Given the description of an element on the screen output the (x, y) to click on. 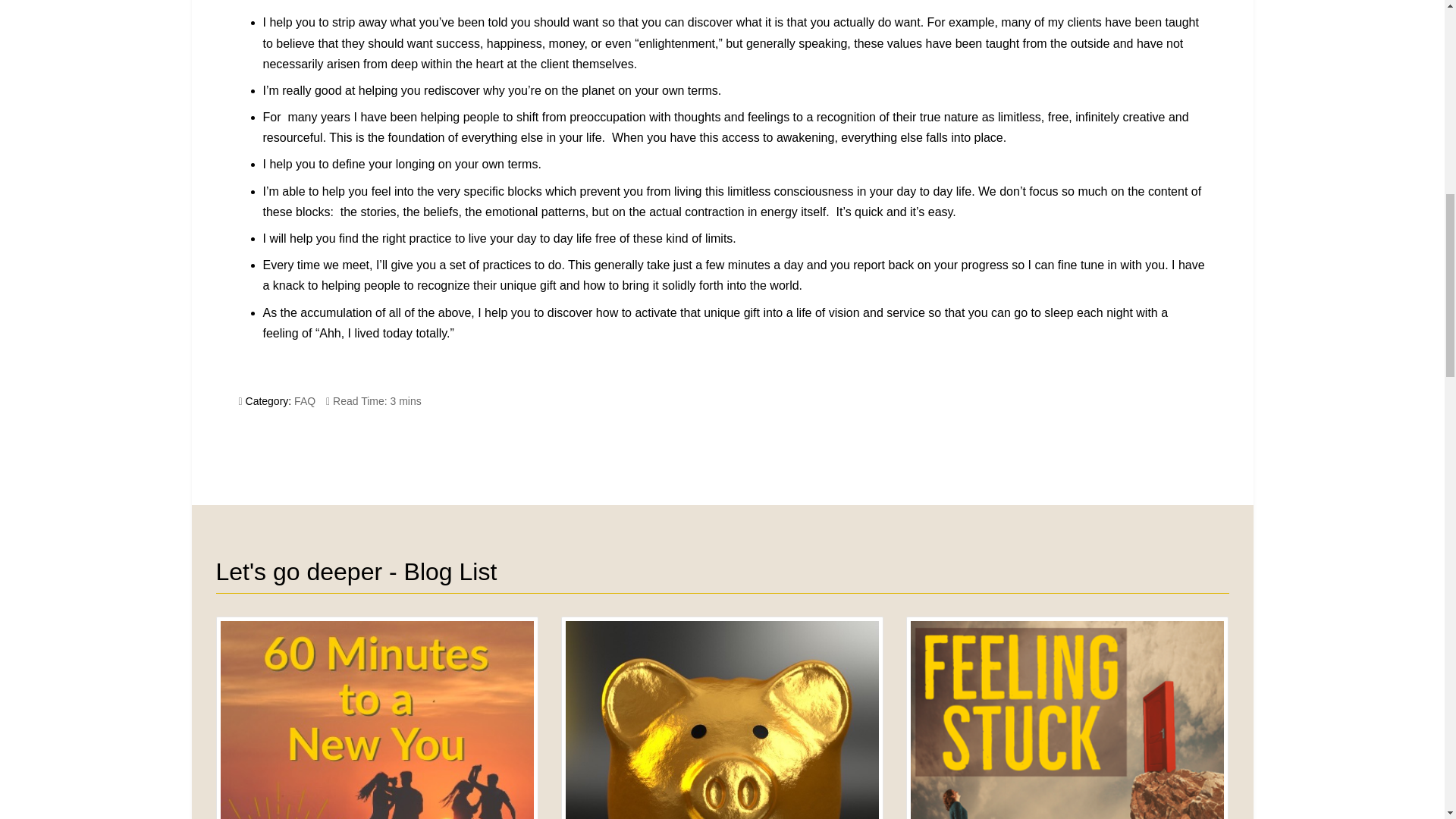
Invest Deeply in Yourself (721, 717)
FAQ (304, 400)
What Causes People to Feel Stuck? (1180, 439)
